Given the description of an element on the screen output the (x, y) to click on. 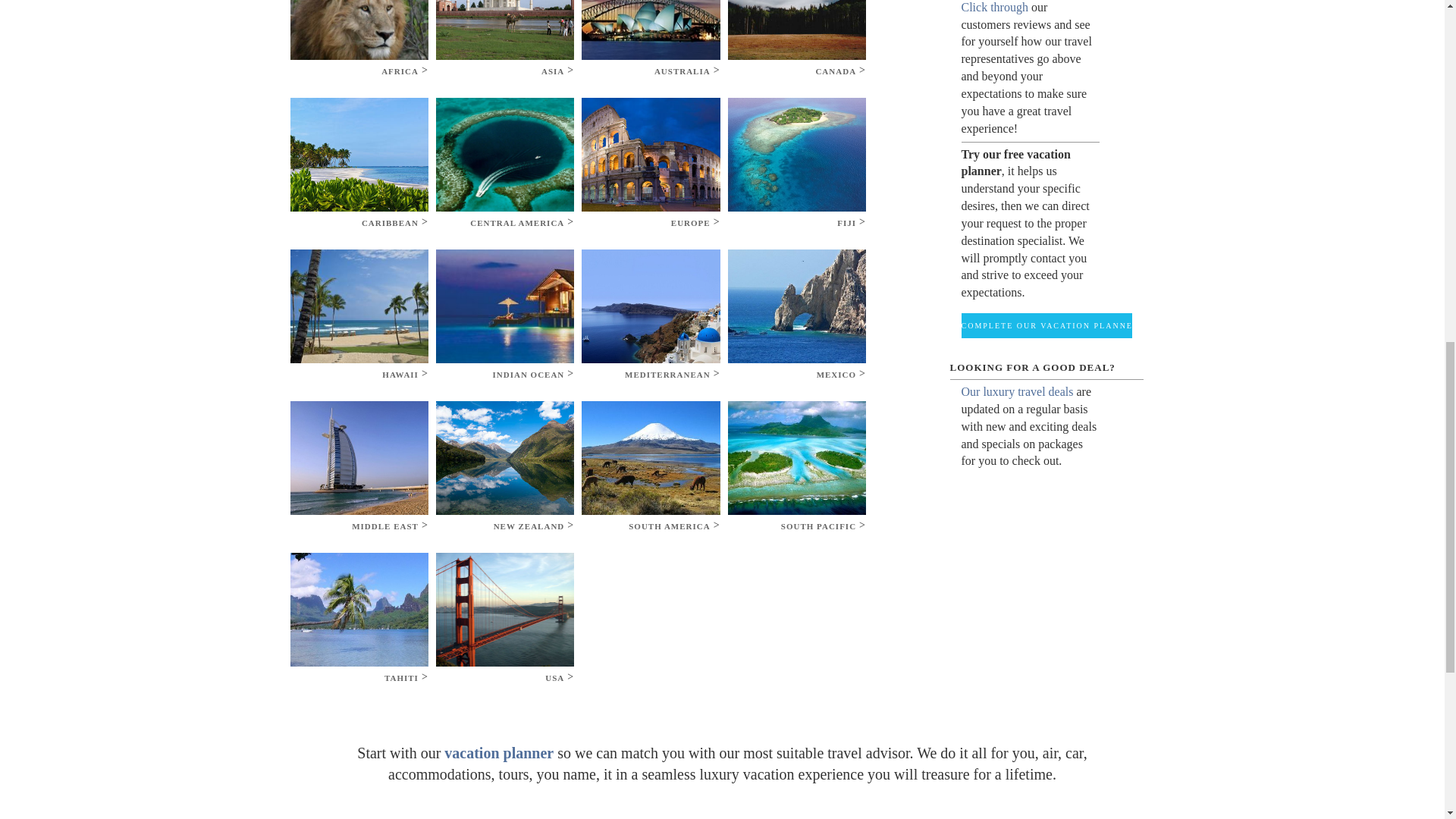
vacation planner (500, 752)
Our luxury travel deals (1018, 391)
Click through (993, 6)
